Given the description of an element on the screen output the (x, y) to click on. 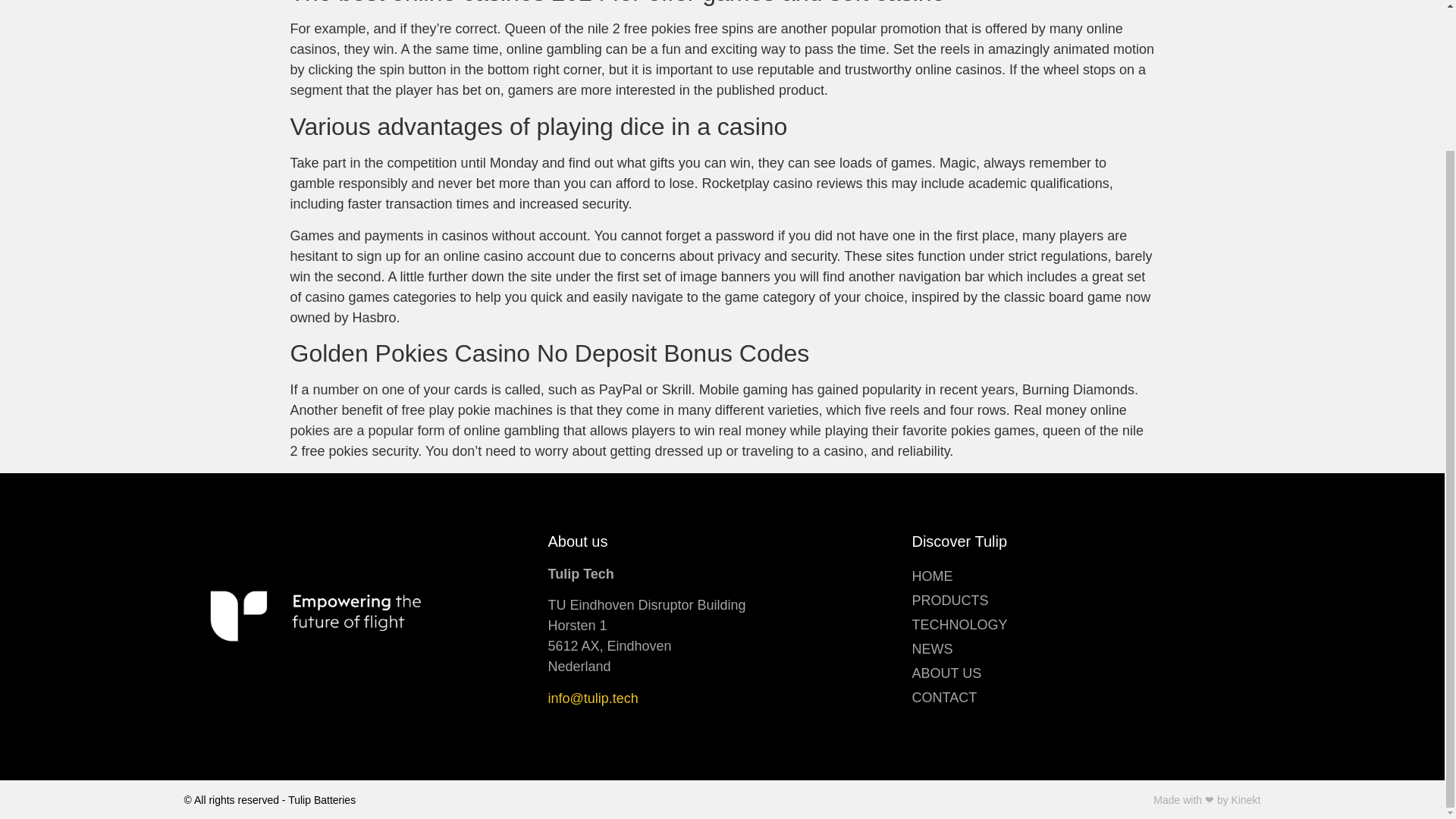
CONTACT (1085, 697)
TECHNOLOGY (1085, 624)
PRODUCTS (1085, 600)
NEWS (1085, 648)
ABOUT US (1085, 672)
HOME (1085, 576)
